Given the description of an element on the screen output the (x, y) to click on. 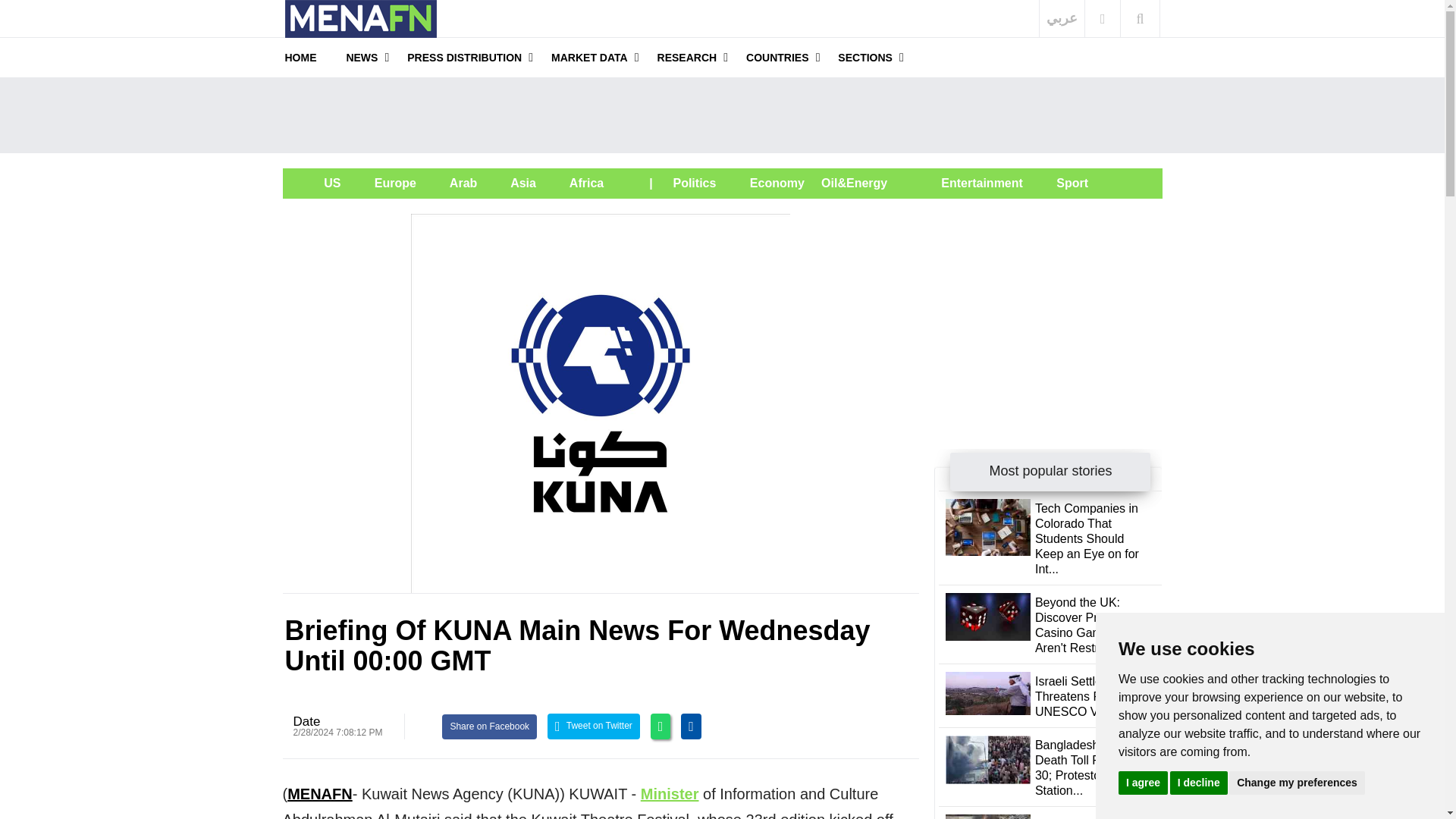
Change my preferences (1296, 781)
I decline (1198, 781)
Advertisement (1047, 308)
PRESS DISTRIBUTION (464, 56)
Posts by NewEdge (306, 721)
I agree (1142, 781)
Advertisement (721, 115)
MARKET DATA (589, 56)
